Given the description of an element on the screen output the (x, y) to click on. 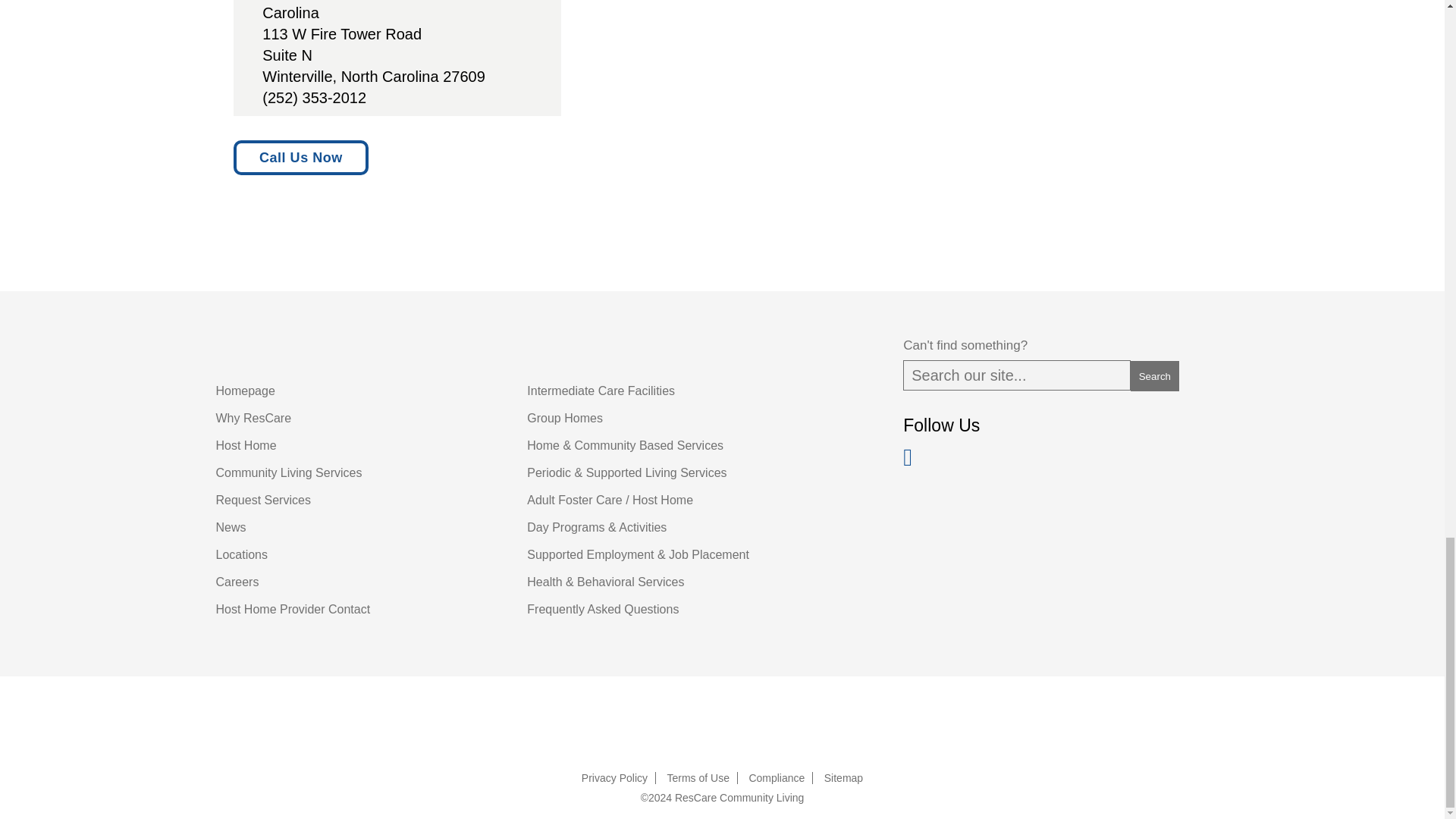
Host Home (245, 445)
Terms of Use (697, 777)
Why ResCare (253, 418)
LinkedIn (914, 461)
Community Living Services (288, 472)
Intermediate Care Facilities (601, 390)
Group Homes (564, 418)
Careers (237, 581)
Privacy Policy (613, 777)
Search (1155, 376)
Request Services (262, 499)
Search (1155, 376)
Host Home Provider Contact (292, 608)
Frequently Asked Questions (602, 608)
Locations (241, 554)
